Given the description of an element on the screen output the (x, y) to click on. 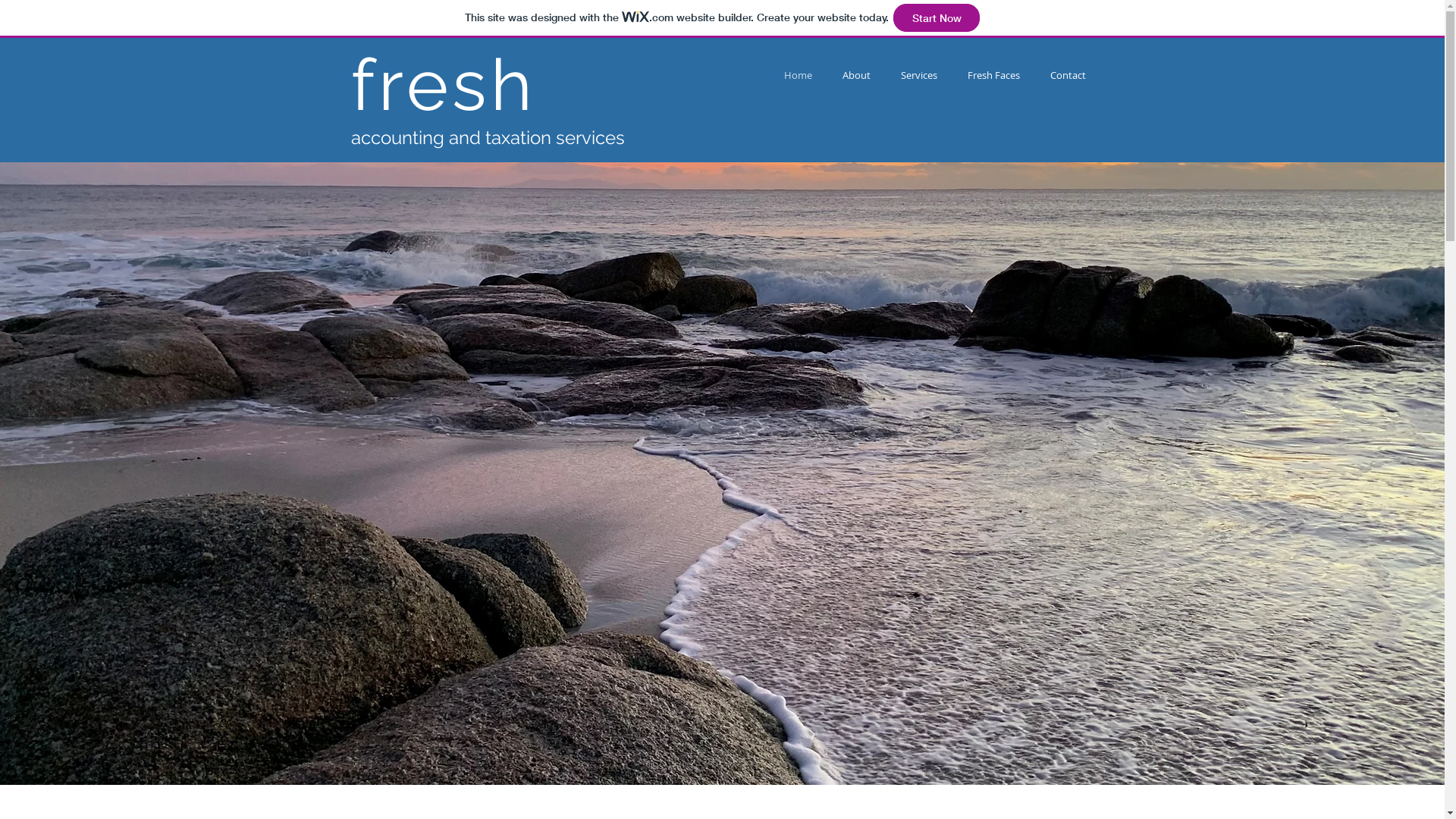
Fresh Faces Element type: text (993, 75)
Home Element type: text (797, 75)
Services Element type: text (918, 75)
Contact Element type: text (1067, 75)
About Element type: text (855, 75)
fresh Element type: text (443, 84)
